Given the description of an element on the screen output the (x, y) to click on. 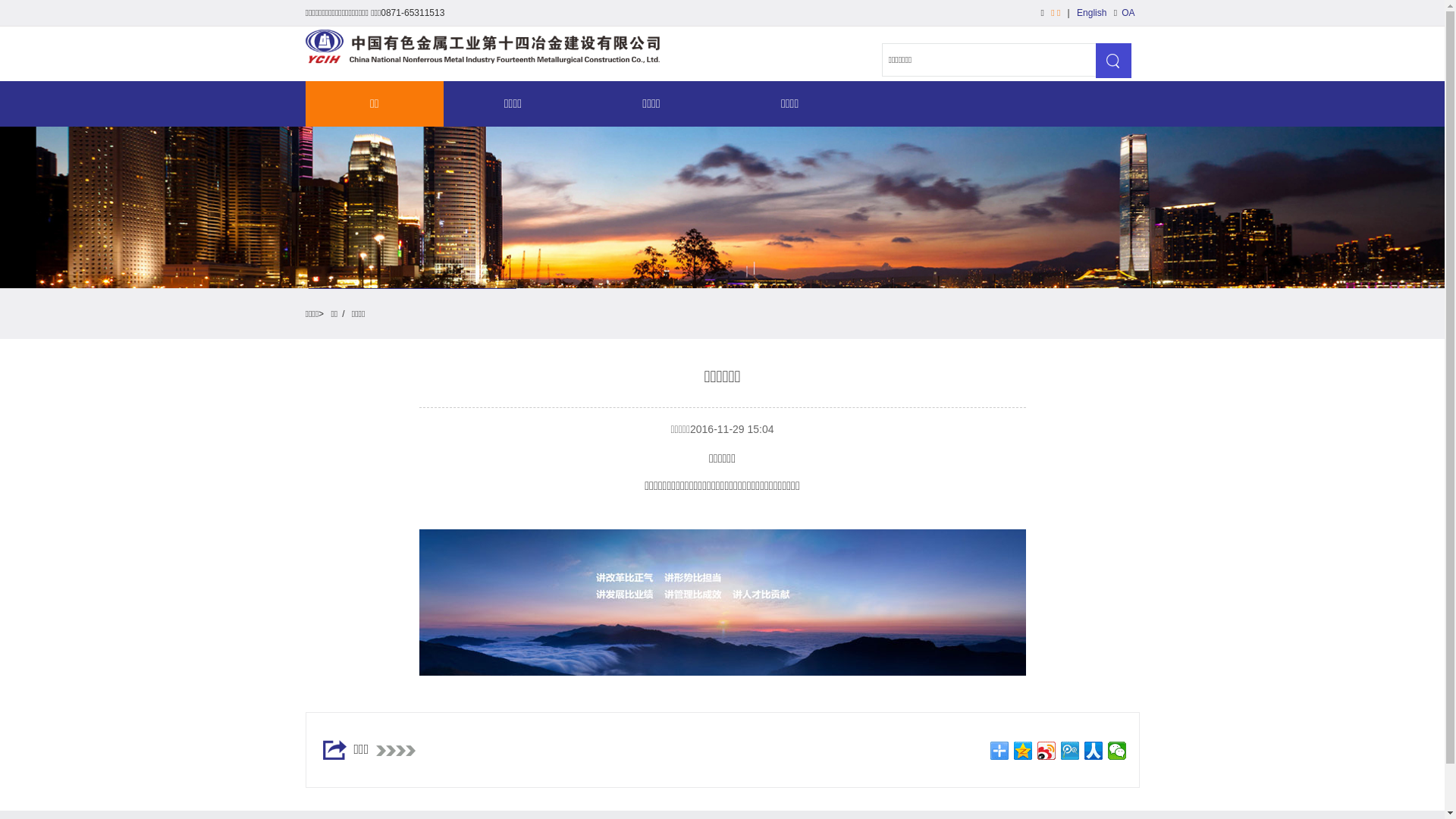
OA Element type: text (1128, 12)
01 Element type: hover (721, 602)
English Element type: text (1091, 12)
